Given the description of an element on the screen output the (x, y) to click on. 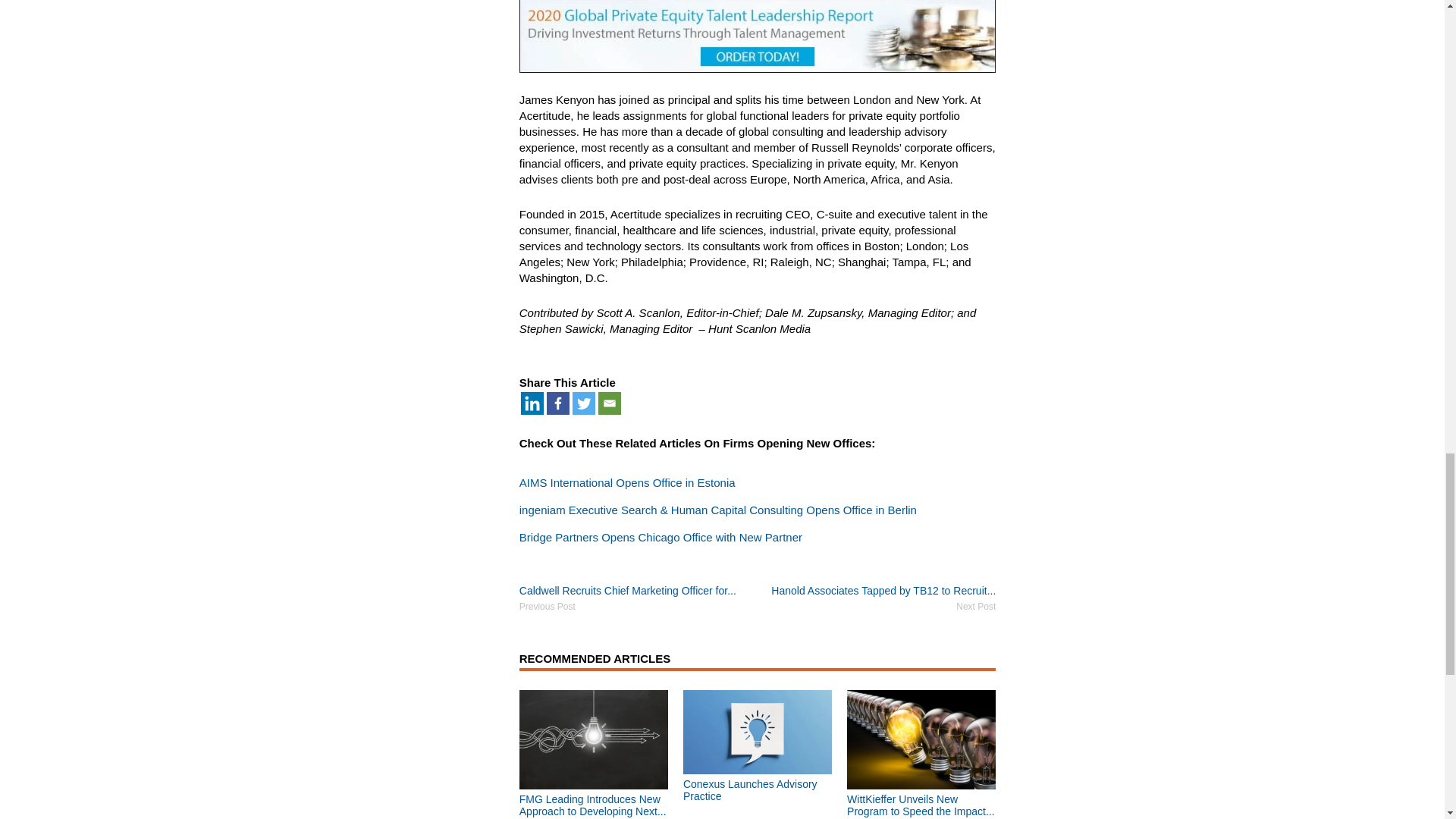
Email (609, 403)
Facebook (558, 403)
Twitter (583, 403)
Linkedin (532, 403)
